Given the description of an element on the screen output the (x, y) to click on. 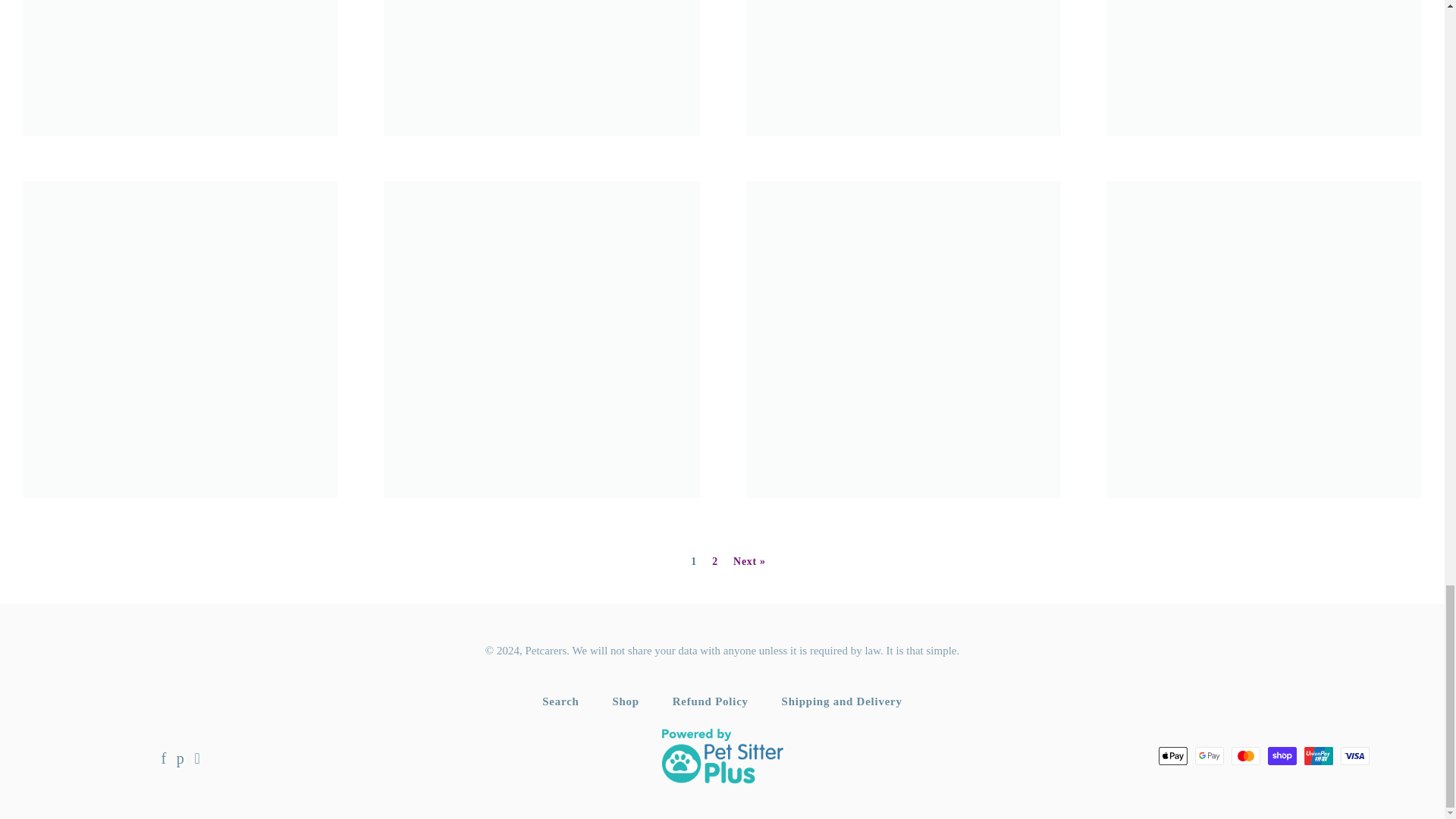
Visa (1355, 755)
Shop Pay (1282, 755)
Union Pay (1318, 755)
Google Pay (1209, 755)
Apple Pay (1173, 755)
Mastercard (1245, 755)
